Given the description of an element on the screen output the (x, y) to click on. 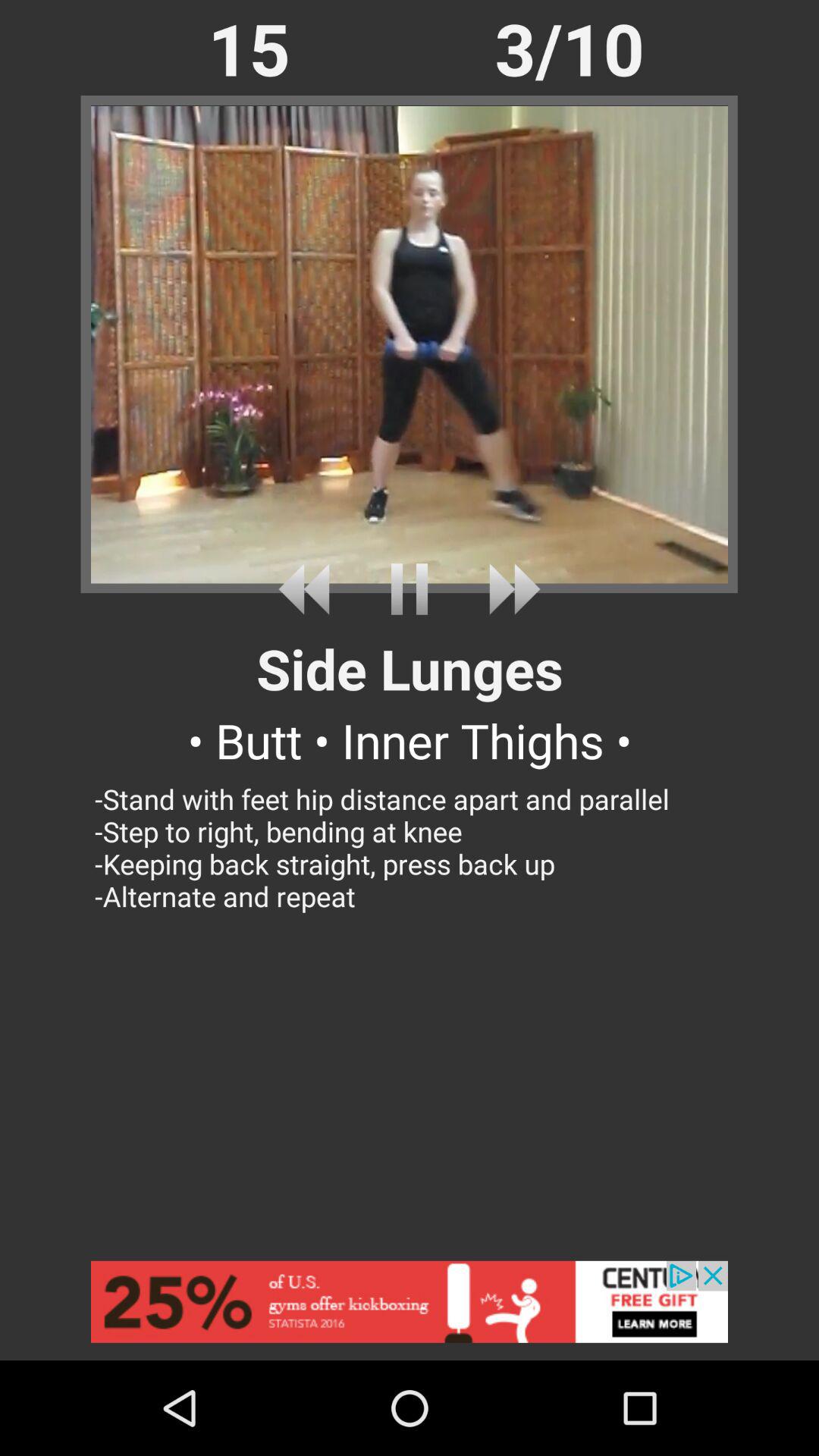
advertisement (409, 1310)
